Given the description of an element on the screen output the (x, y) to click on. 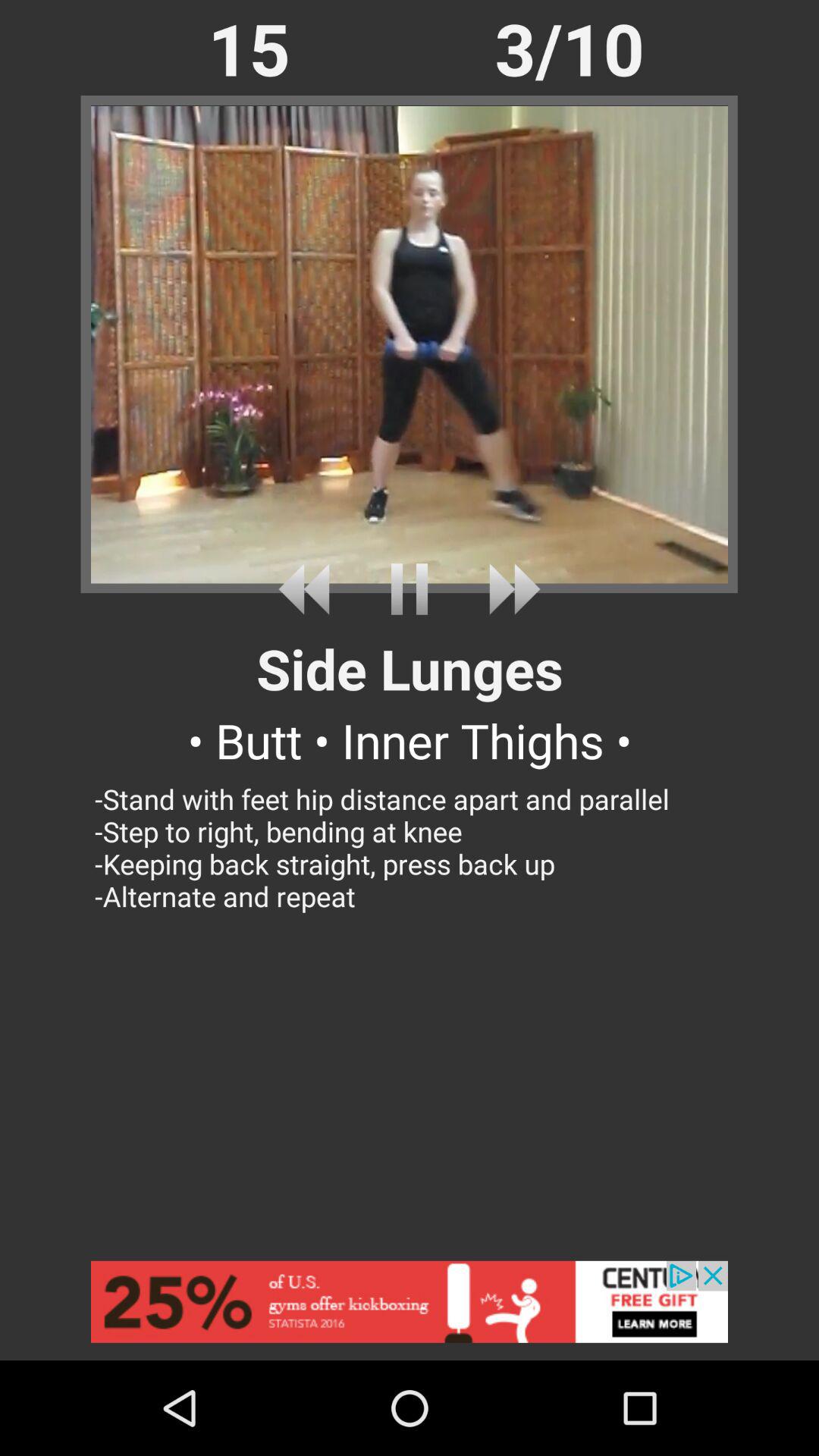
advertisement (409, 1310)
